Given the description of an element on the screen output the (x, y) to click on. 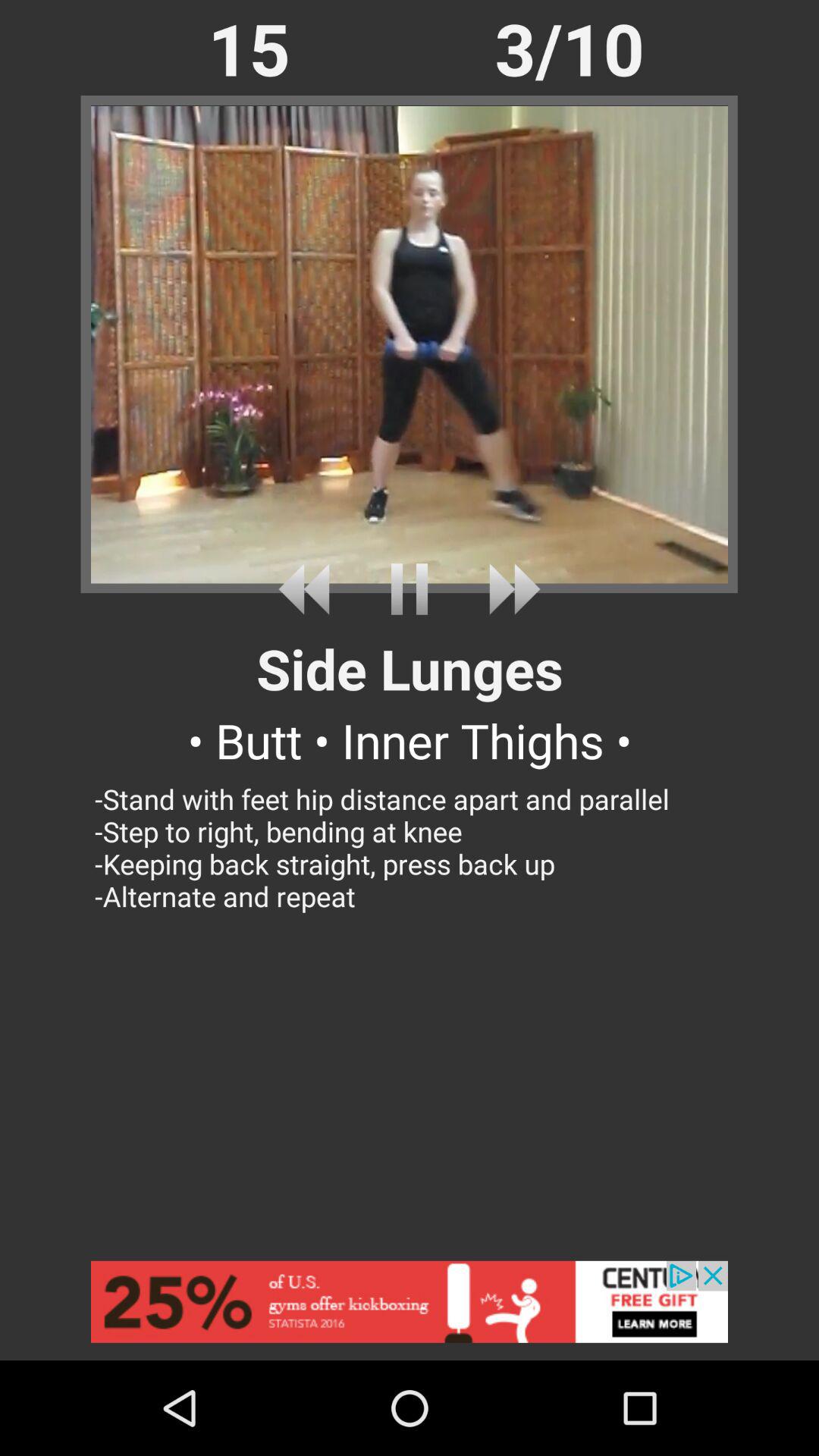
advertisement (409, 1310)
